Given the description of an element on the screen output the (x, y) to click on. 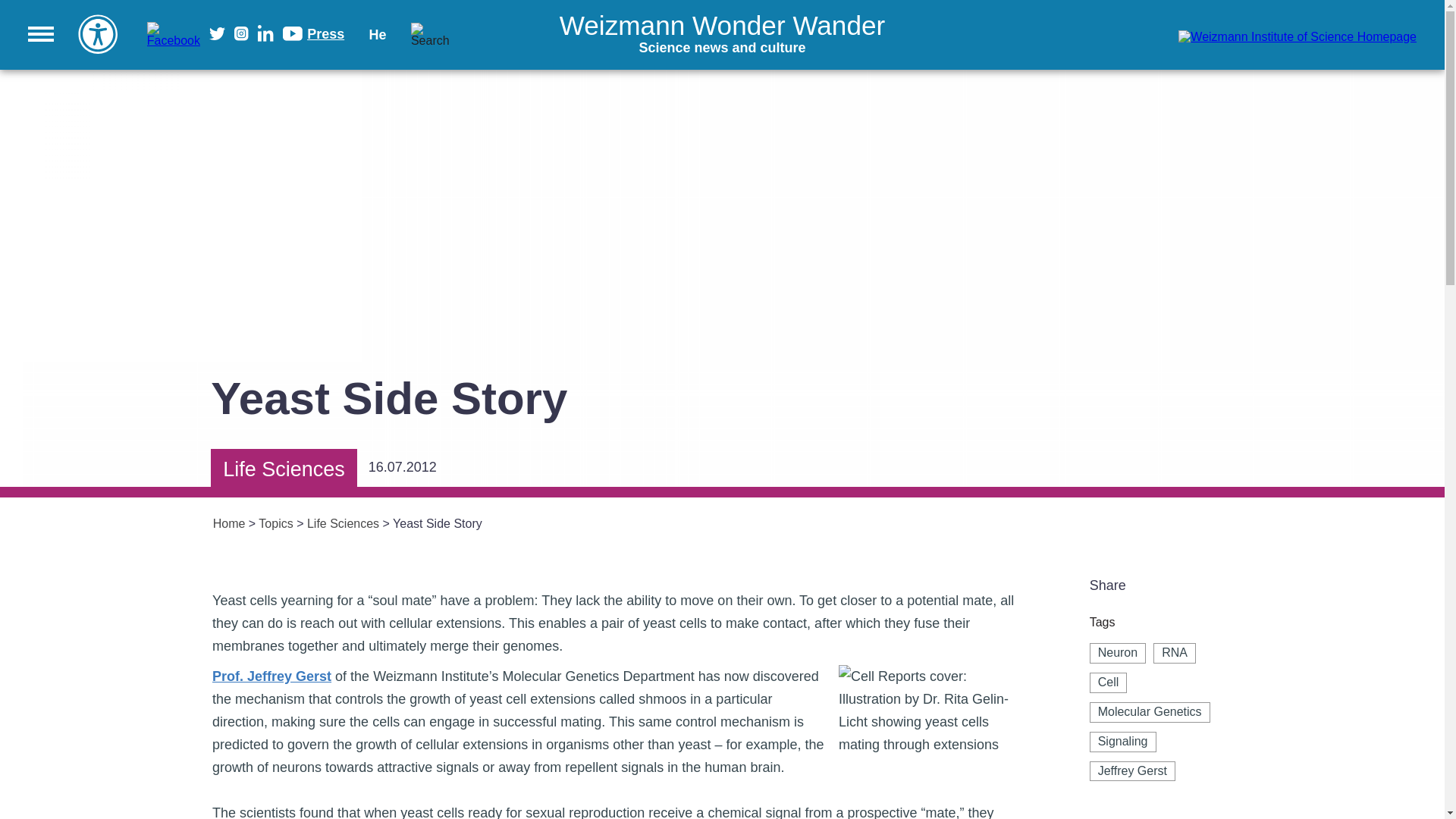
Weizmann Wonder Wander Homepage (722, 34)
Menu (40, 32)
He (378, 34)
Accessibility (97, 33)
Press (325, 33)
Weizmann Institute of Science Homepage (722, 34)
Search (1215, 34)
Life Sciences (419, 31)
